Given the description of an element on the screen output the (x, y) to click on. 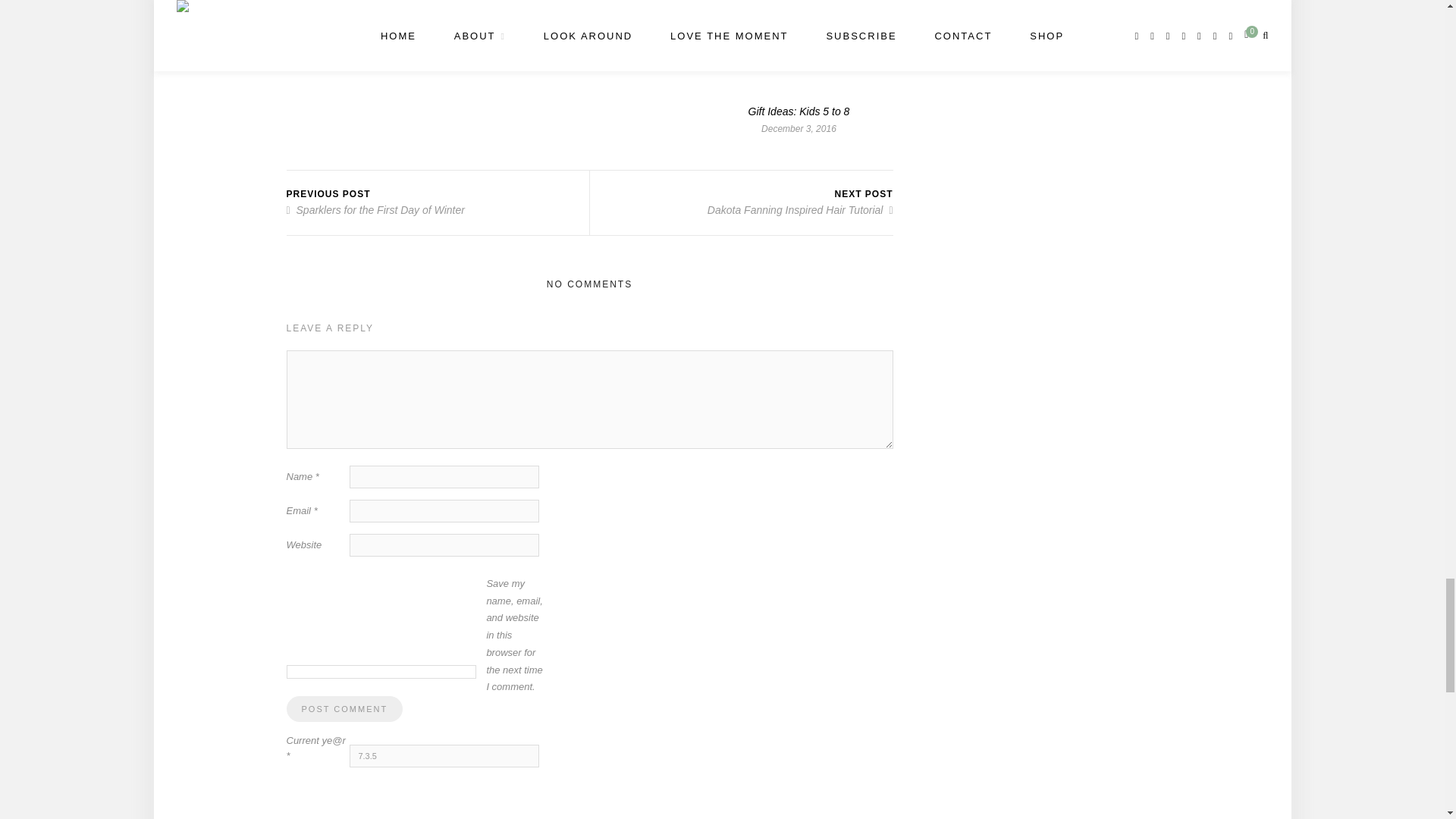
7.3.5 (443, 755)
Post Comment (344, 708)
yes (381, 671)
